Given the description of an element on the screen output the (x, y) to click on. 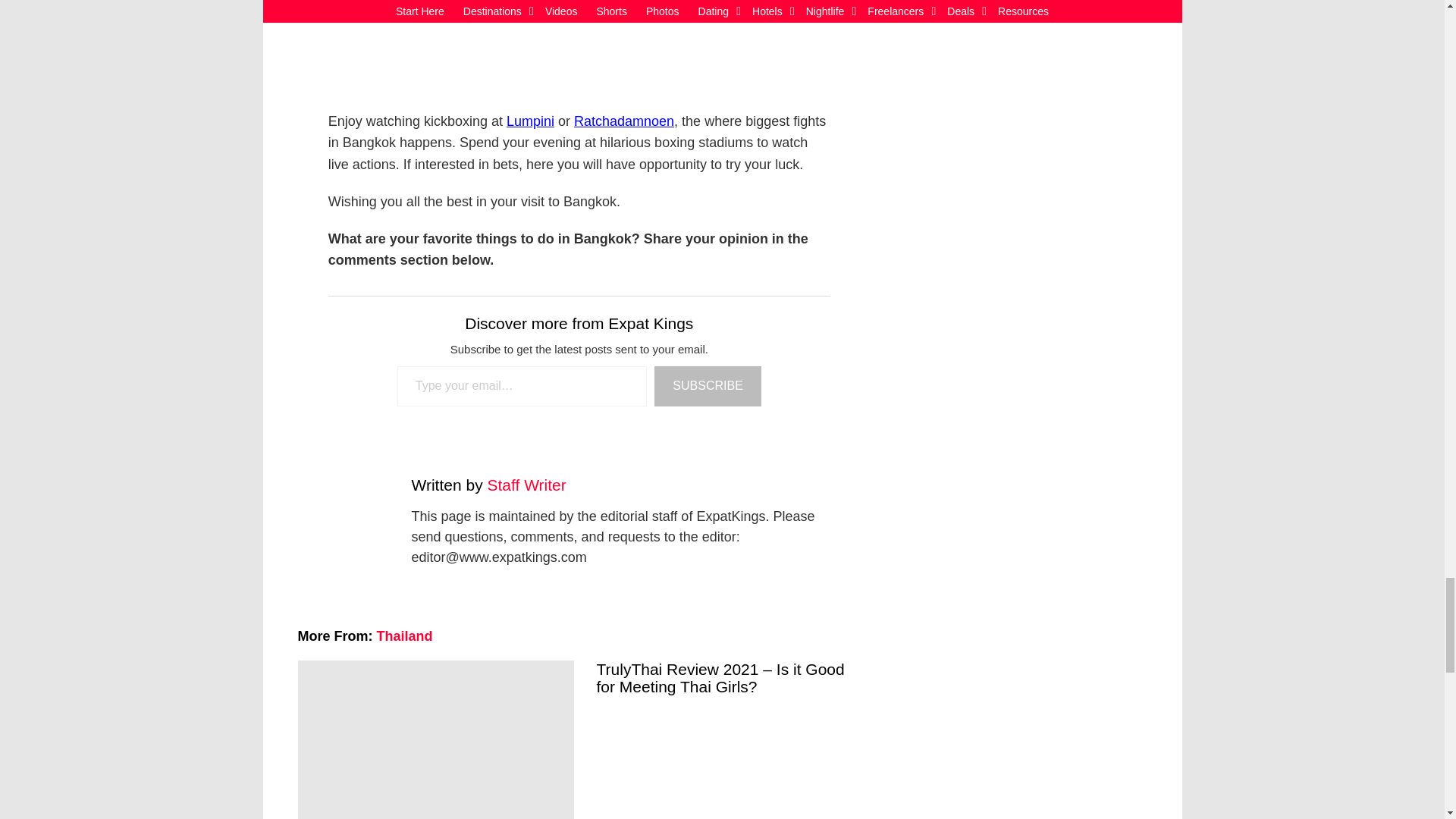
Please fill in this field. (522, 386)
